Given the description of an element on the screen output the (x, y) to click on. 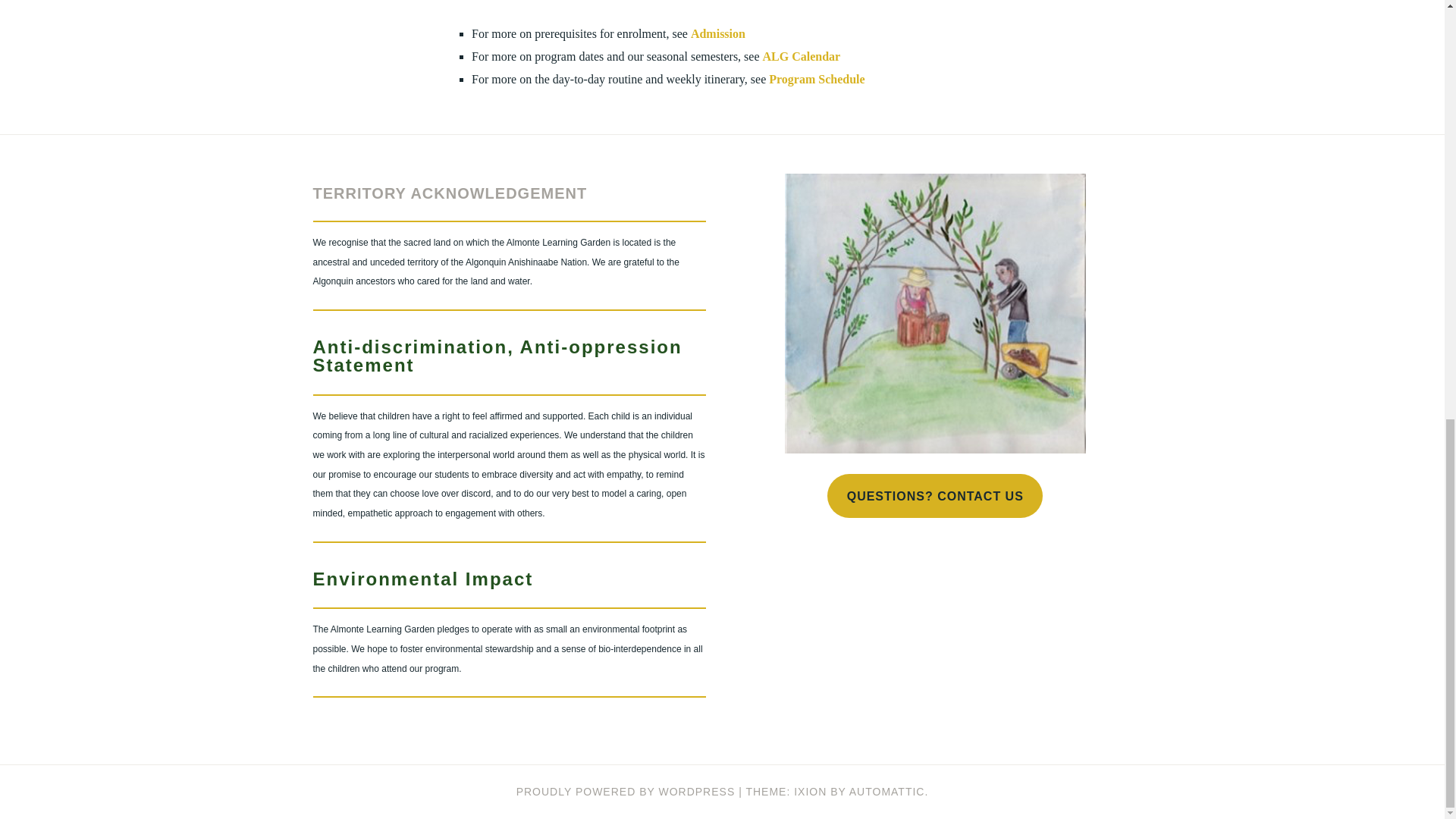
ALG Calendar (801, 56)
QUESTIONS? CONTACT US (934, 495)
PROUDLY POWERED BY WORDPRESS (625, 791)
AUTOMATTIC (886, 791)
Program Schedule (816, 78)
Admission (717, 33)
